Given the description of an element on the screen output the (x, y) to click on. 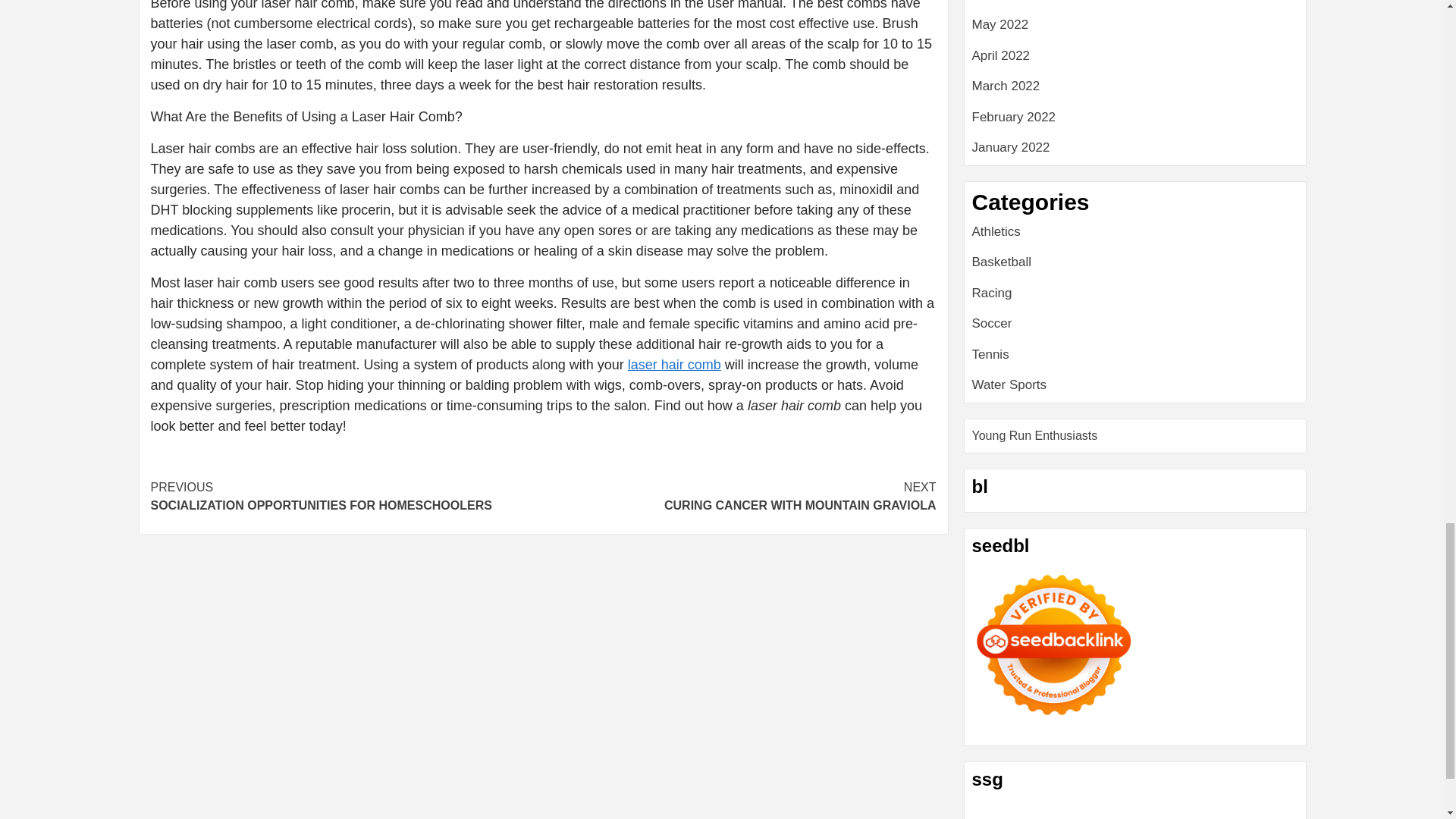
Seedbacklink (739, 496)
laser hair comb (1053, 644)
